Given the description of an element on the screen output the (x, y) to click on. 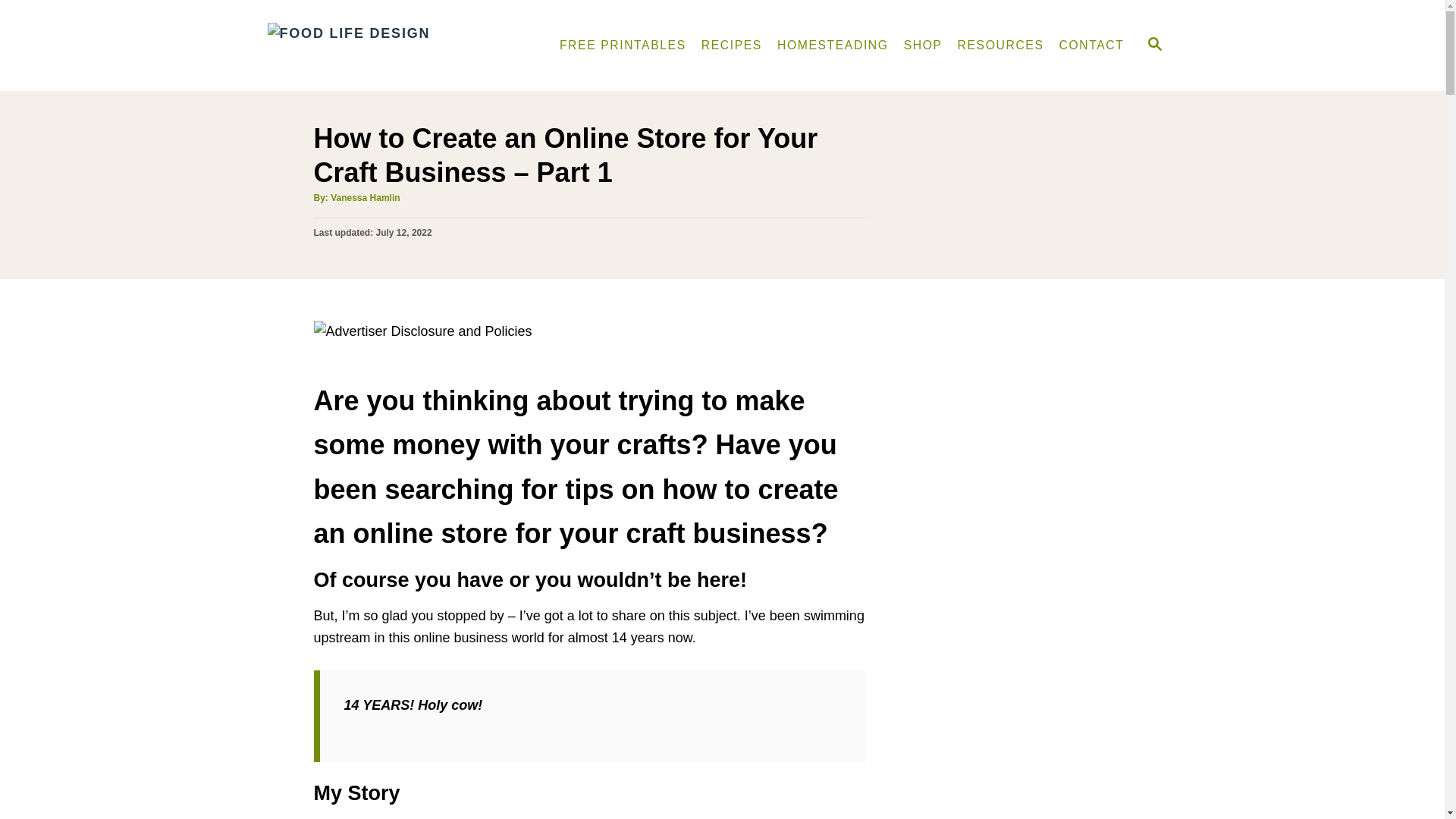
Vanessa Hamlin (364, 197)
RECIPES (732, 45)
SEARCH (1153, 45)
Food Life Design (394, 45)
SHOP (923, 45)
CONTACT (1091, 45)
HOMESTEADING (833, 45)
FREE PRINTABLES (622, 45)
RESOURCES (1000, 45)
